Given the description of an element on the screen output the (x, y) to click on. 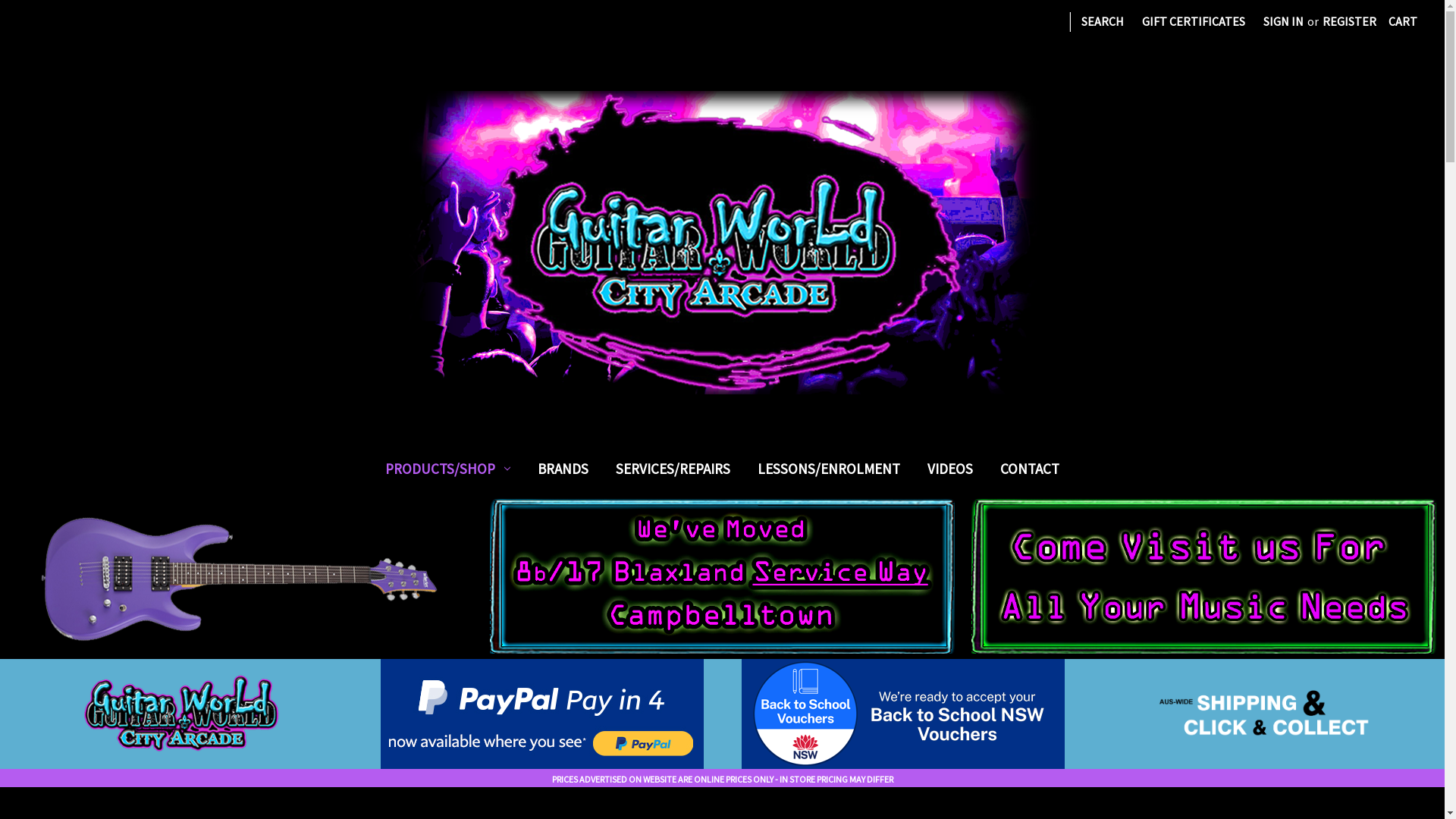
SEARCH Element type: text (1102, 21)
CONTACT Element type: text (1029, 470)
BRANDS Element type: text (563, 470)
SIGN IN Element type: text (1283, 21)
SERVICES/REPAIRS Element type: text (672, 470)
CART Element type: text (1402, 21)
LESSONS/ENROLMENT Element type: text (828, 470)
PRODUCTS/SHOP Element type: text (447, 470)
GIFT CERTIFICATES Element type: text (1193, 21)
Guitar World City Arcade Element type: hover (721, 242)
REGISTER Element type: text (1349, 21)
VIDEOS Element type: text (949, 470)
